Given the description of an element on the screen output the (x, y) to click on. 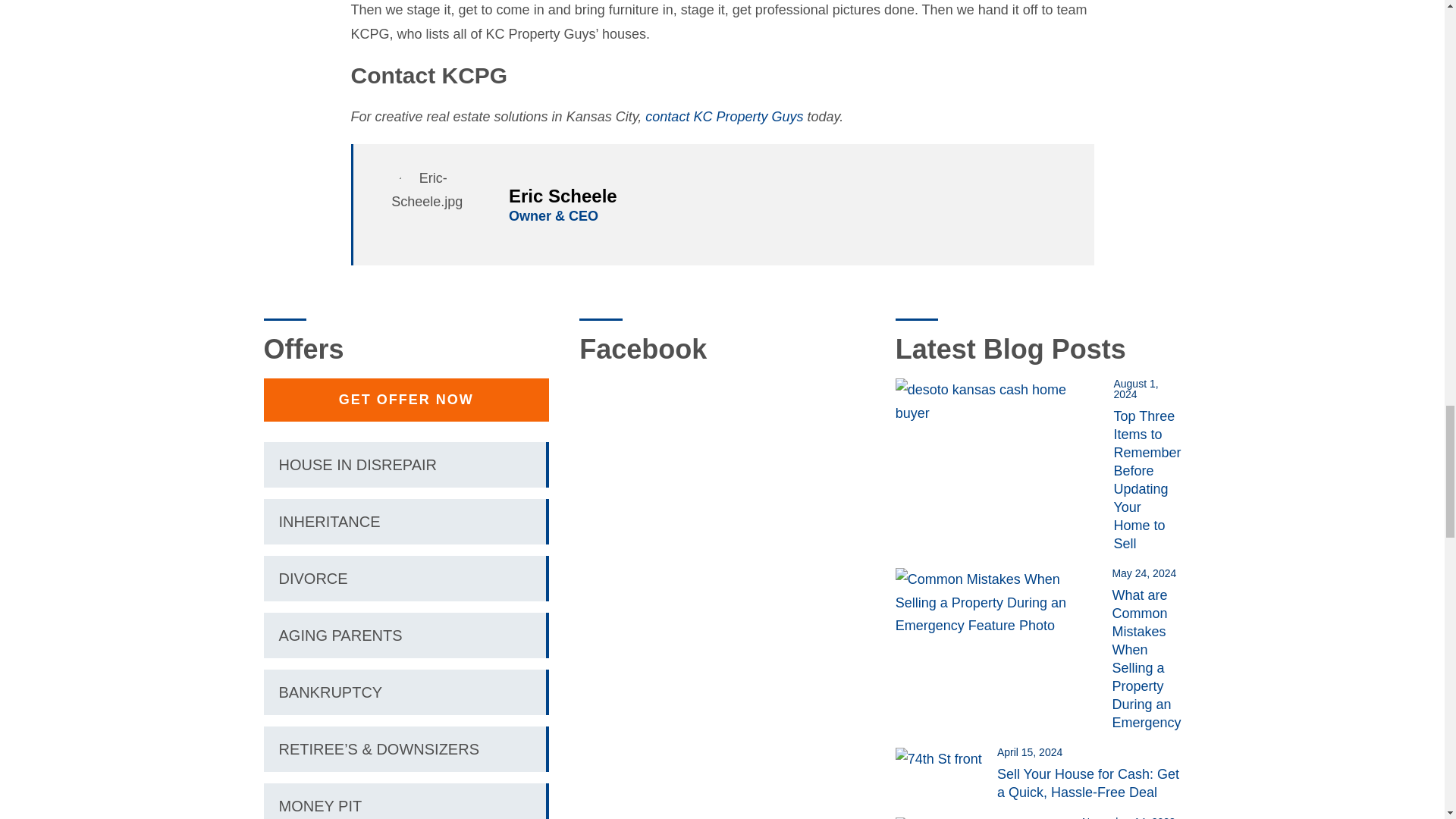
Sell Your House for Cash: Get a Quick, Hassle-Free Deal (946, 758)
Can I Sell My Share of Inherited Property? (988, 817)
